Given the description of an element on the screen output the (x, y) to click on. 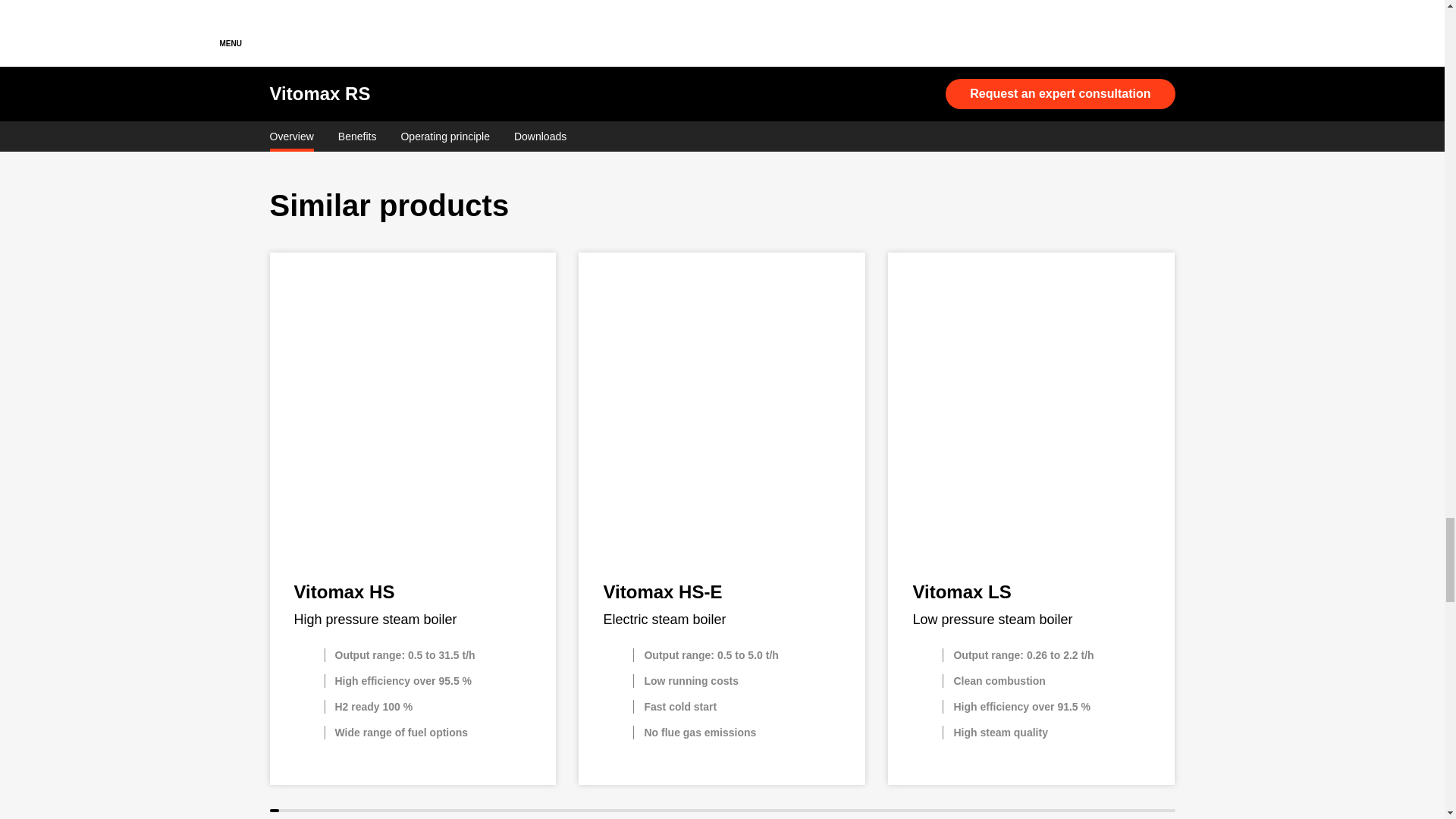
ViBooks (529, 48)
